Given the description of an element on the screen output the (x, y) to click on. 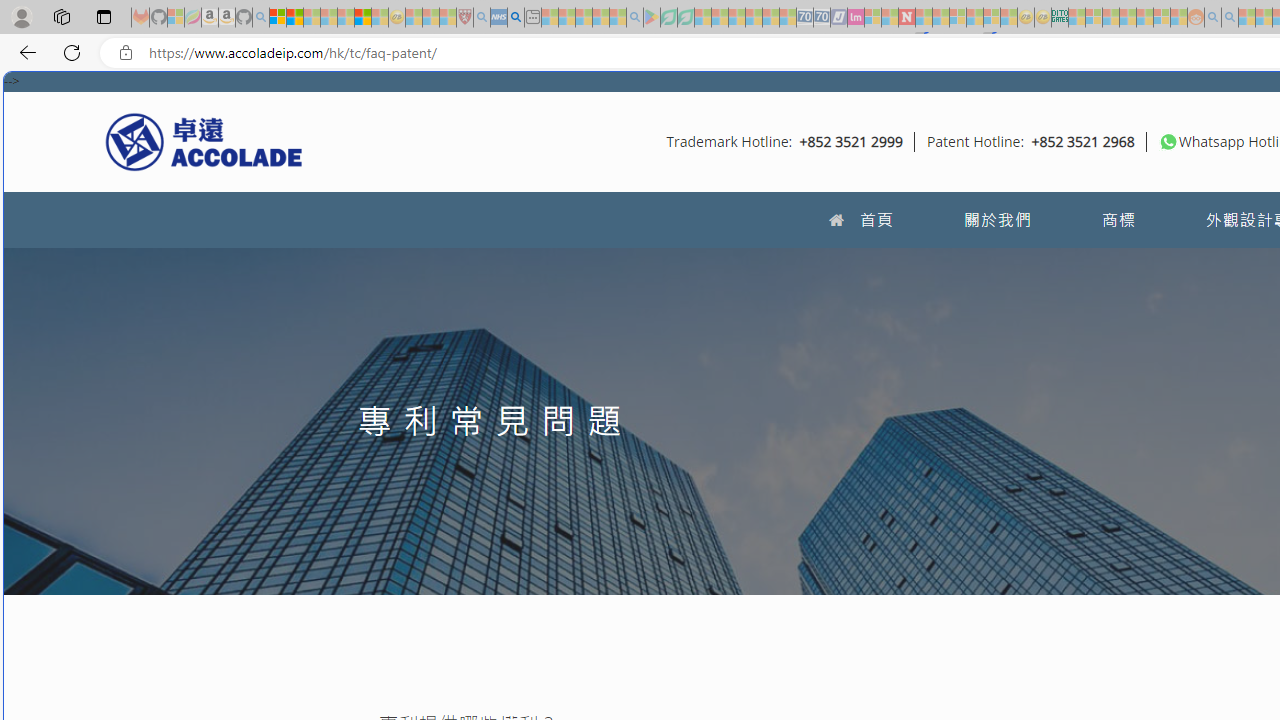
Accolade IP HK Logo (203, 141)
